Given the description of an element on the screen output the (x, y) to click on. 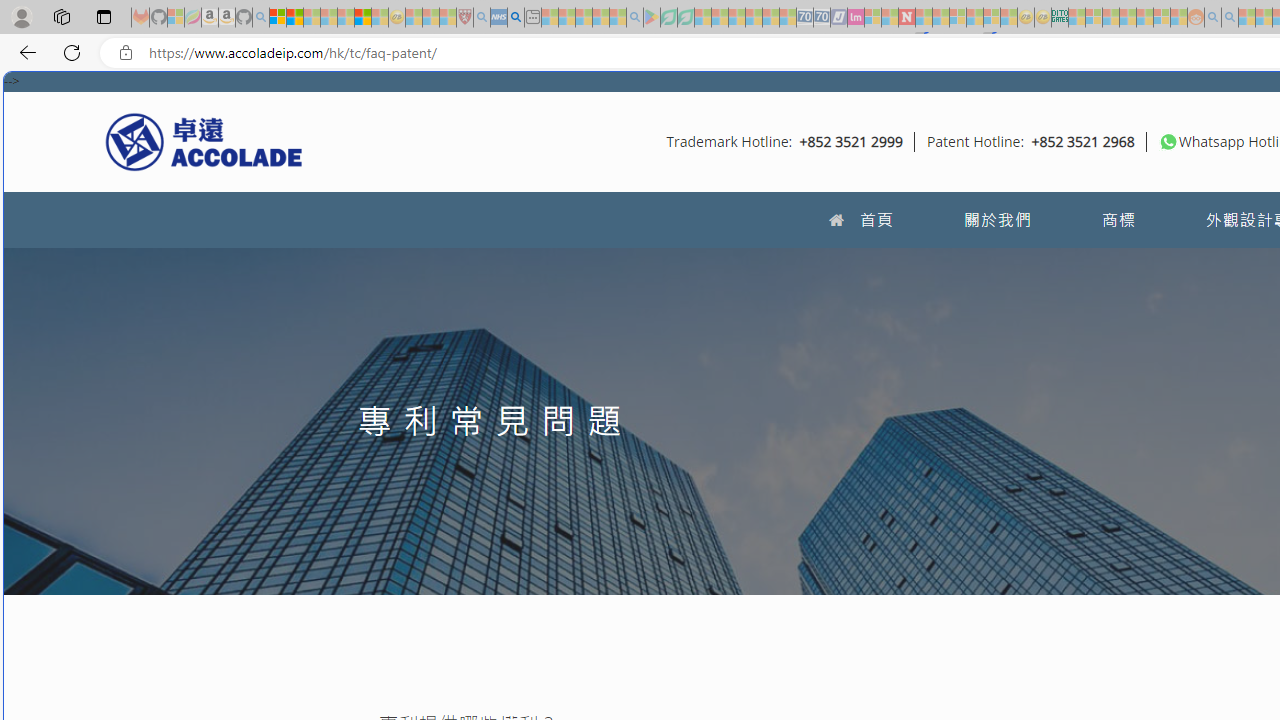
Accolade IP HK Logo (203, 141)
